Given the description of an element on the screen output the (x, y) to click on. 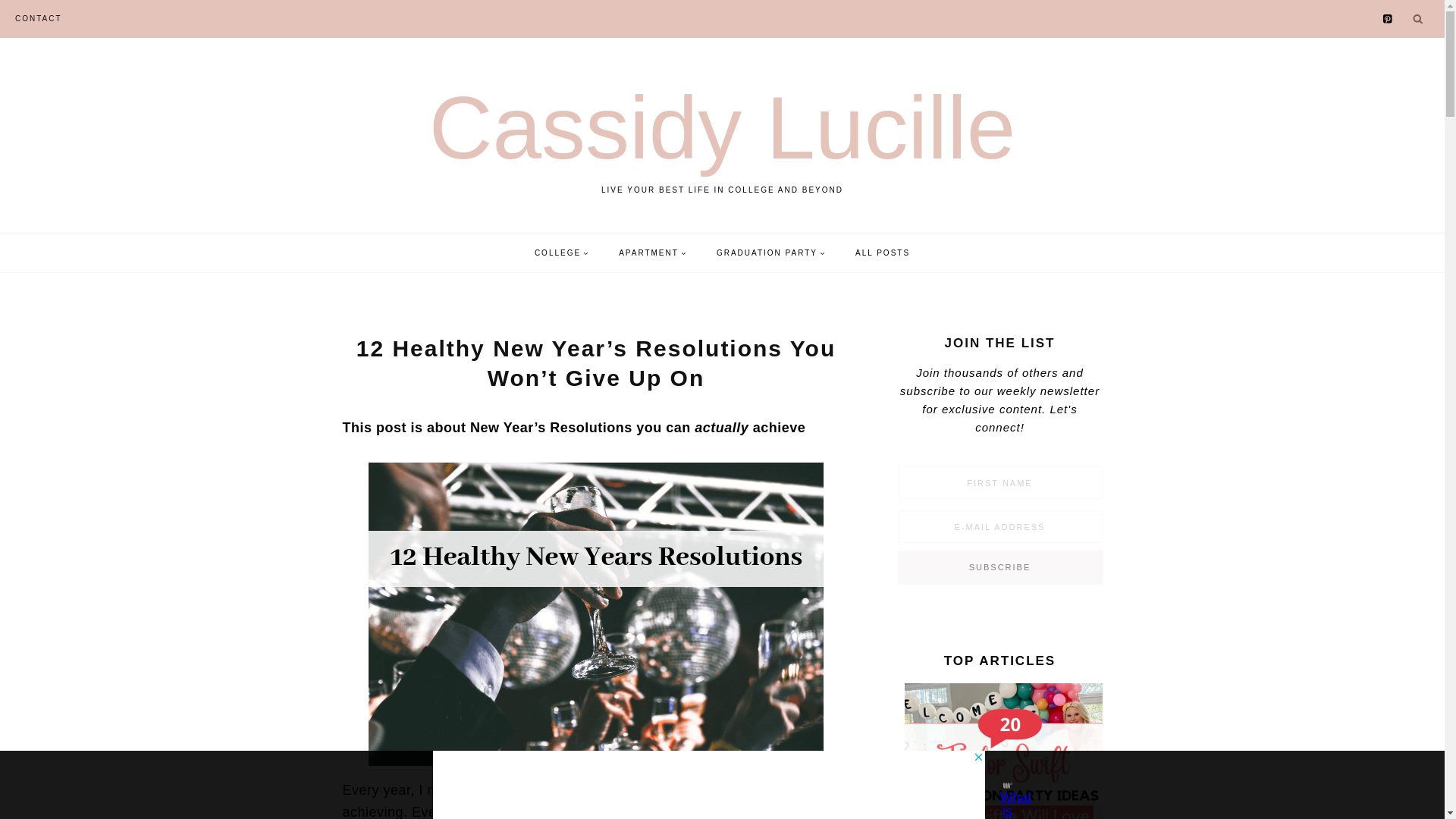
3rd party ad content (708, 785)
COLLEGE (561, 252)
CONTACT (38, 18)
ALL POSTS (882, 252)
GRADUATION PARTY (770, 252)
APARTMENT (722, 135)
